Given the description of an element on the screen output the (x, y) to click on. 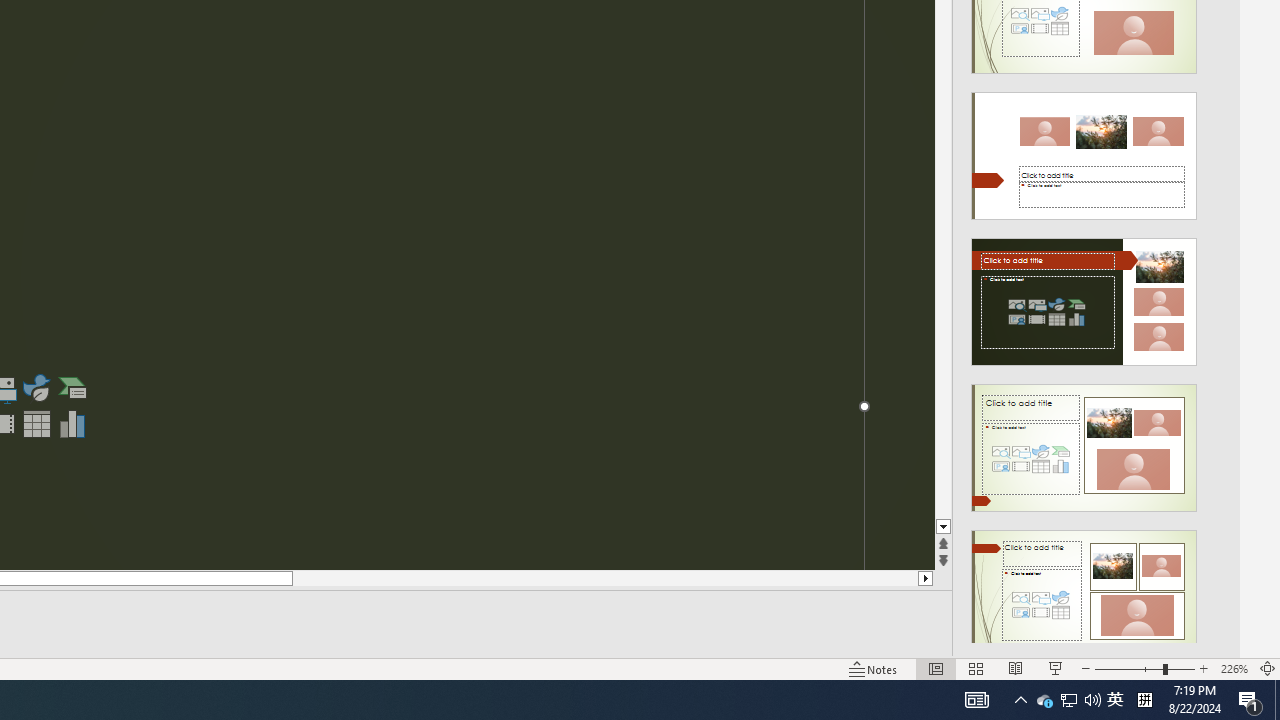
Insert Chart (73, 423)
Insert an Icon (36, 387)
Zoom 226% (1234, 668)
